Given the description of an element on the screen output the (x, y) to click on. 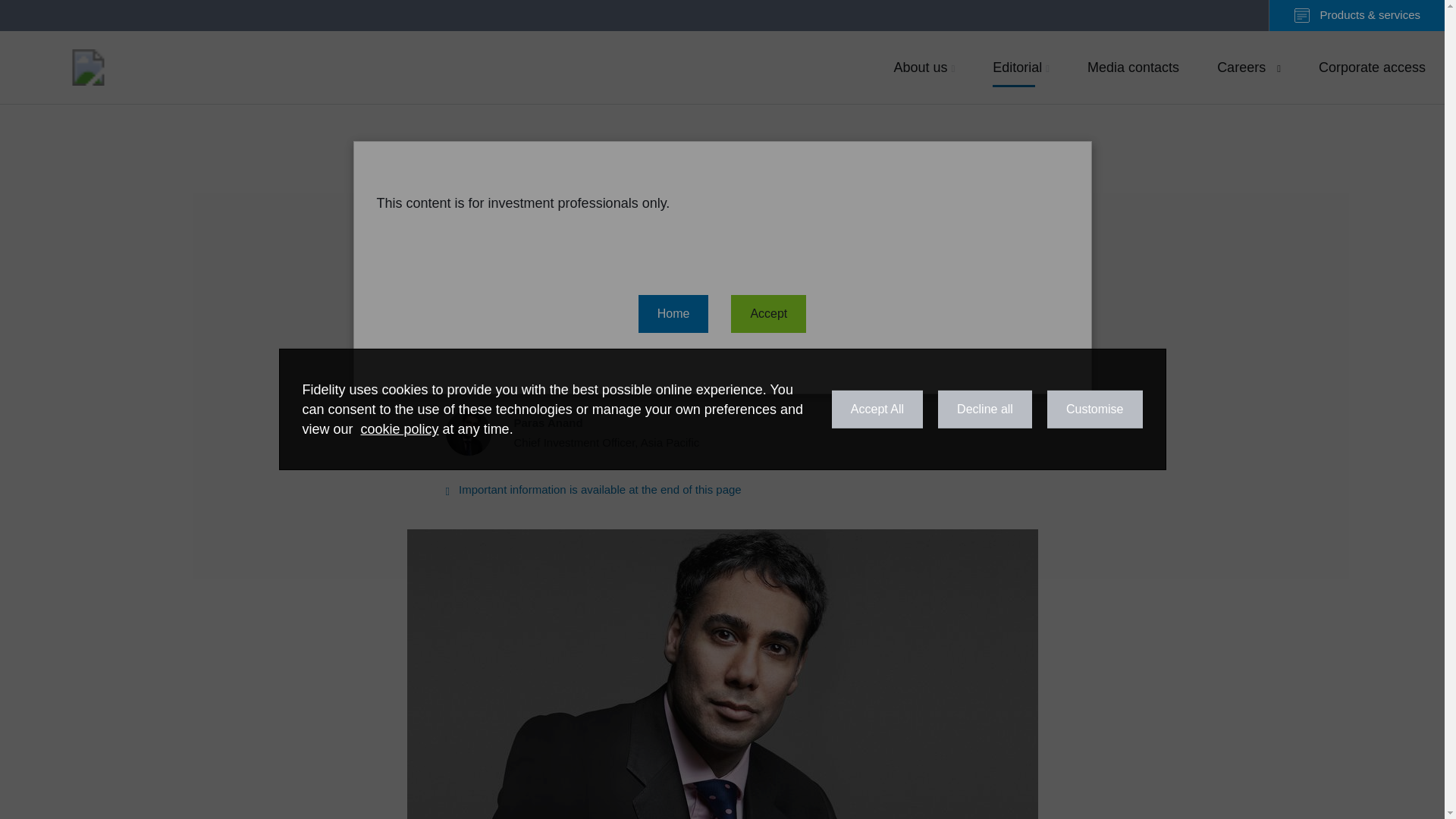
disclaimer (593, 489)
Paras Anand (581, 432)
Fidelity International Logo (88, 67)
Careers (1248, 66)
Fidelity International Logo (88, 67)
Media contacts (1133, 66)
About us (924, 66)
Editorial (1021, 66)
Corporate access (581, 432)
